Given the description of an element on the screen output the (x, y) to click on. 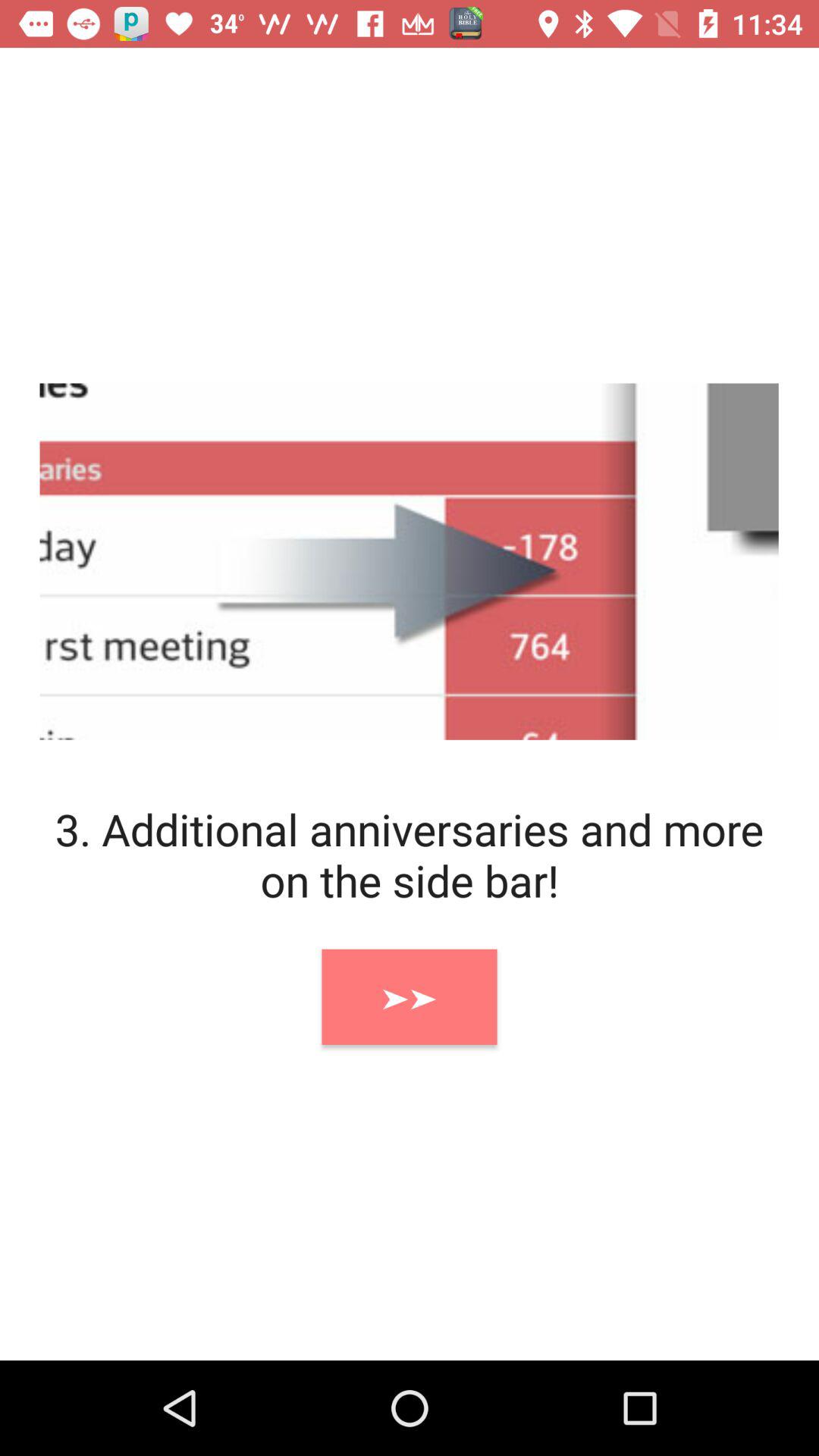
press item below 3 additional anniversaries icon (409, 996)
